Given the description of an element on the screen output the (x, y) to click on. 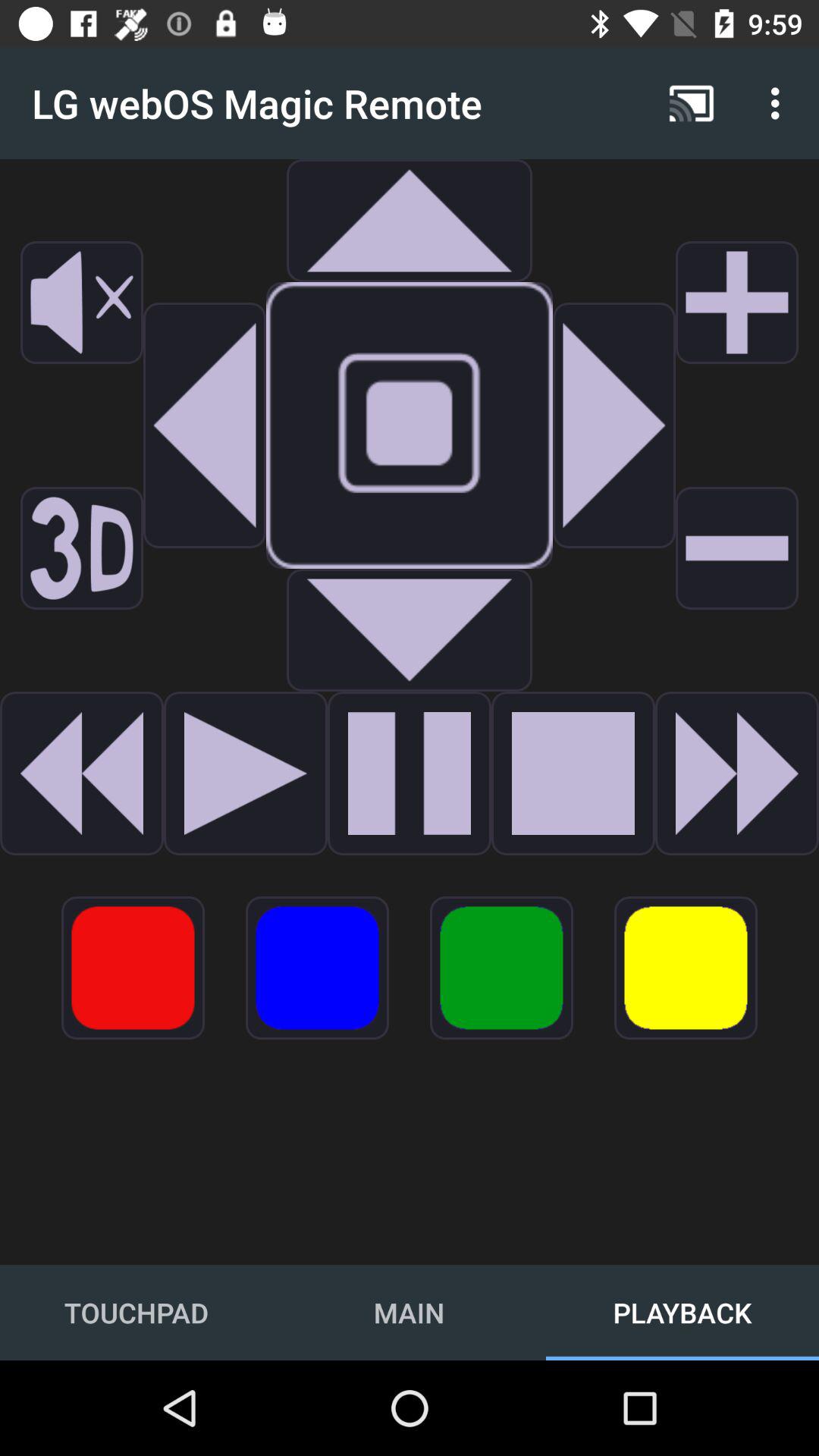
channel up (736, 302)
